Given the description of an element on the screen output the (x, y) to click on. 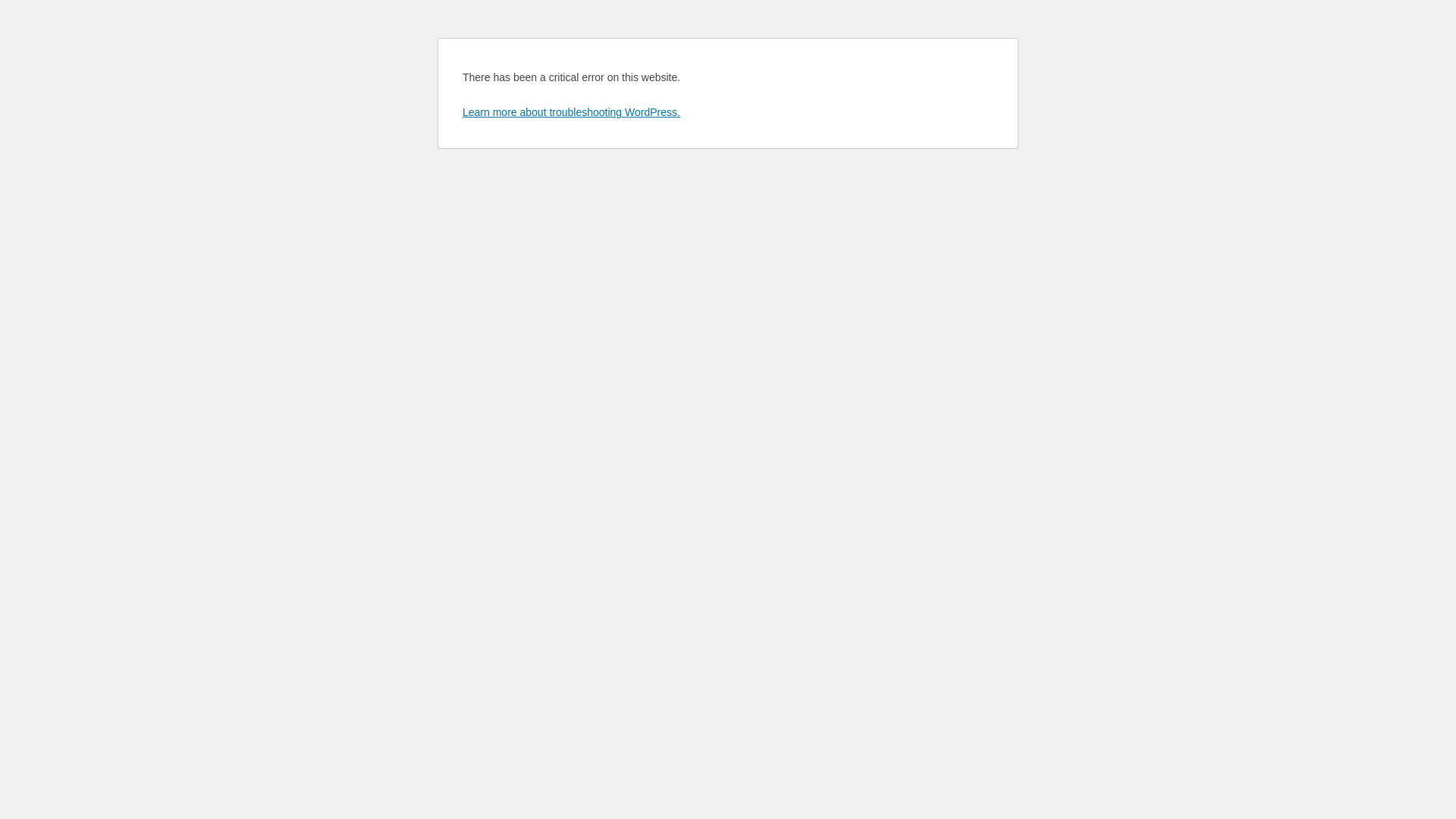
Learn more about troubleshooting WordPress. Element type: text (571, 112)
